Given the description of an element on the screen output the (x, y) to click on. 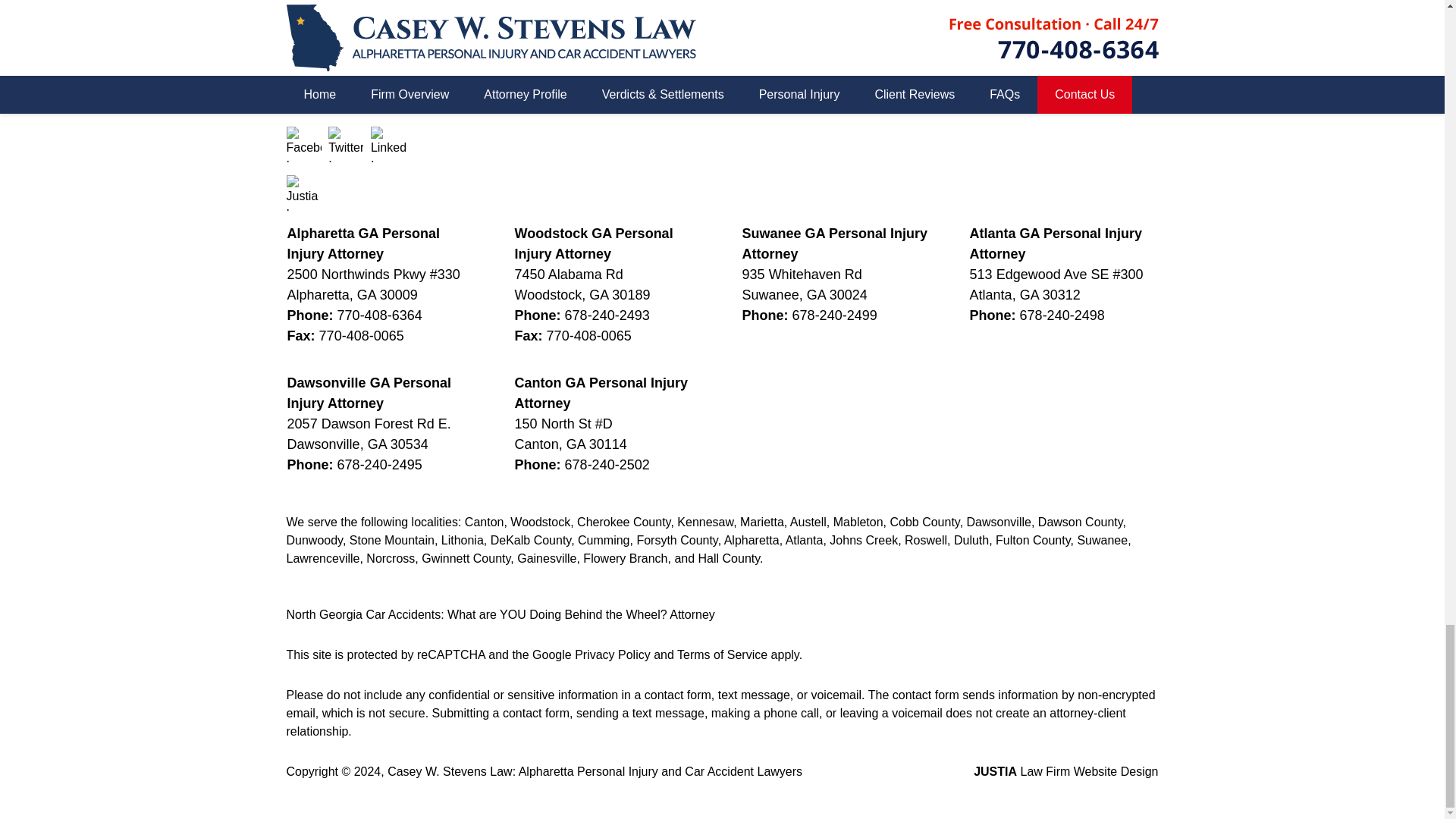
Justia (303, 192)
Facebook (303, 143)
LinkedIn (388, 143)
Twitter (345, 143)
